Given the description of an element on the screen output the (x, y) to click on. 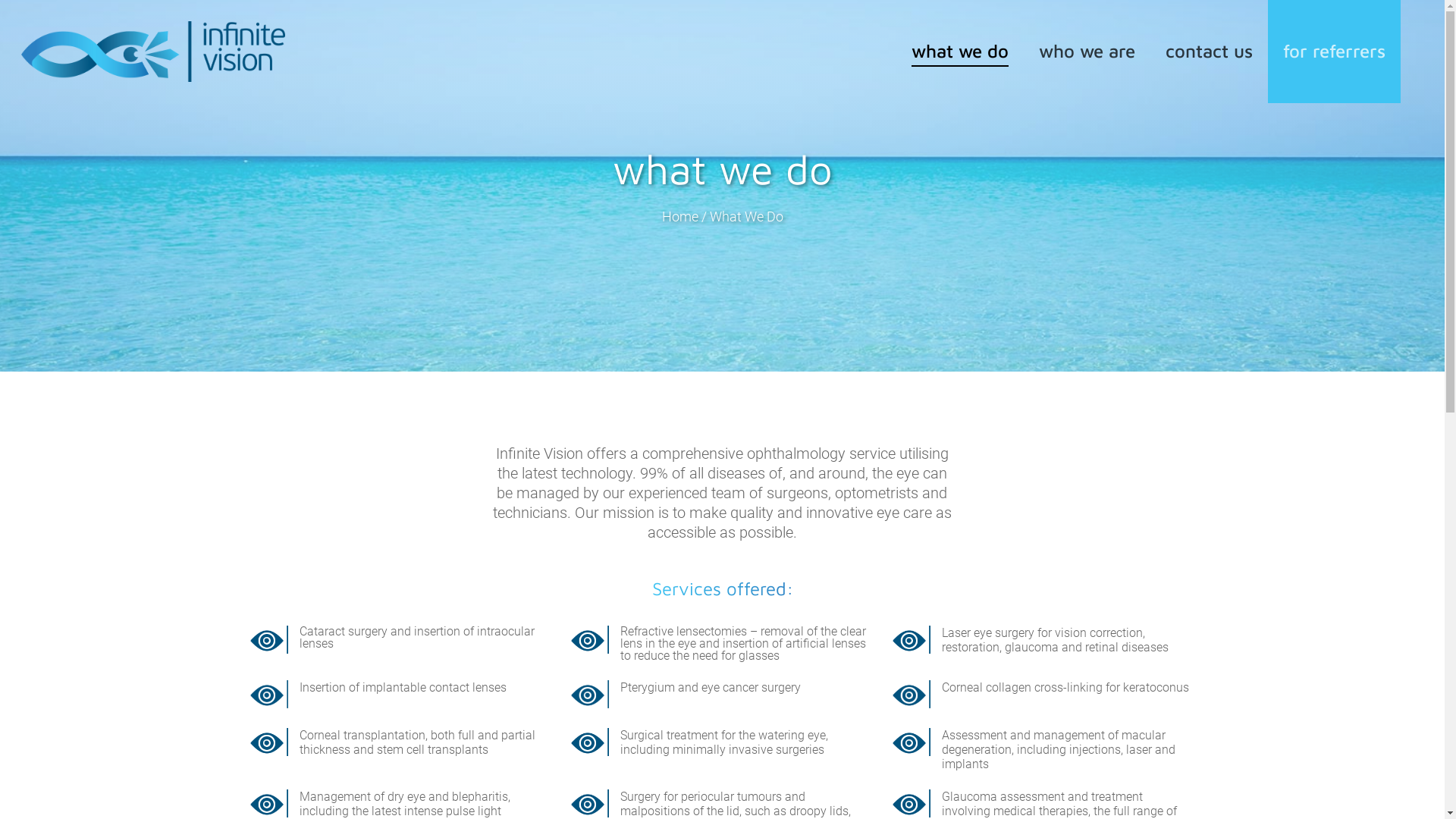
Get Directions Element type: text (626, 659)
Get Directions Element type: text (947, 659)
for referrers Element type: text (1334, 51)
(07) 3089 1717 Element type: text (630, 690)
who we are Element type: text (1086, 51)
Home Element type: text (679, 216)
ipswich@infinitevision.net.au Element type: text (988, 753)
logan@infinitevision.net.au Element type: text (662, 753)
(07) 3413 6980 Element type: text (951, 690)
contact us Element type: text (1208, 51)
Web Ignite Element type: text (433, 795)
what we do Element type: text (959, 51)
